Given the description of an element on the screen output the (x, y) to click on. 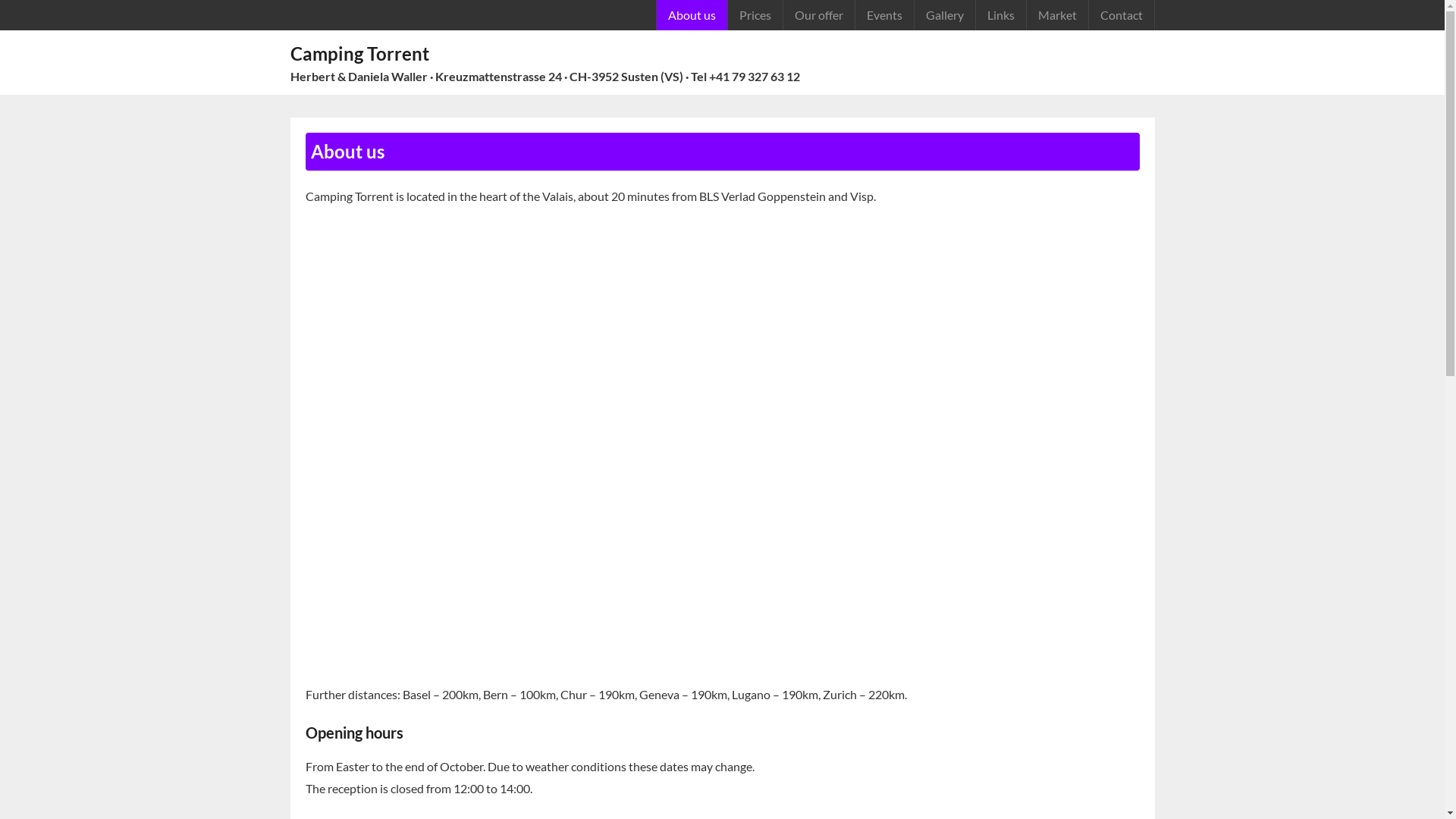
Events Element type: text (883, 15)
Market Element type: text (1056, 15)
Links Element type: text (1000, 15)
About us Element type: text (690, 15)
Gallery Element type: text (943, 15)
Our offer Element type: text (818, 15)
Contact Element type: text (1120, 15)
Prices Element type: text (753, 15)
